Given the description of an element on the screen output the (x, y) to click on. 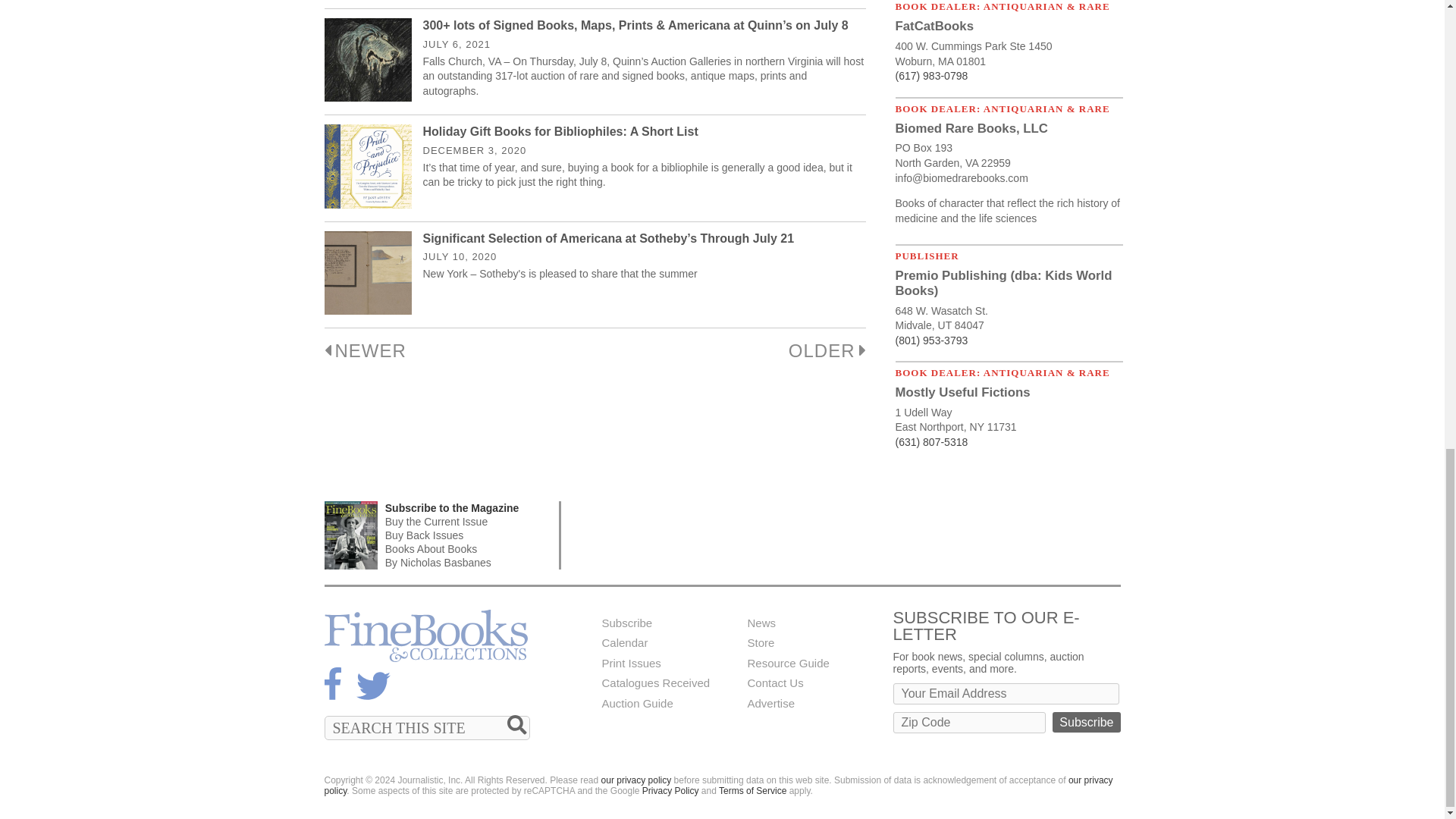
Holiday Gift Books for Bibliophiles: A Short List (560, 131)
3rd party ad content (845, 535)
Subscribe (1085, 721)
Go to previous page (365, 350)
Go to next page (827, 350)
